Given the description of an element on the screen output the (x, y) to click on. 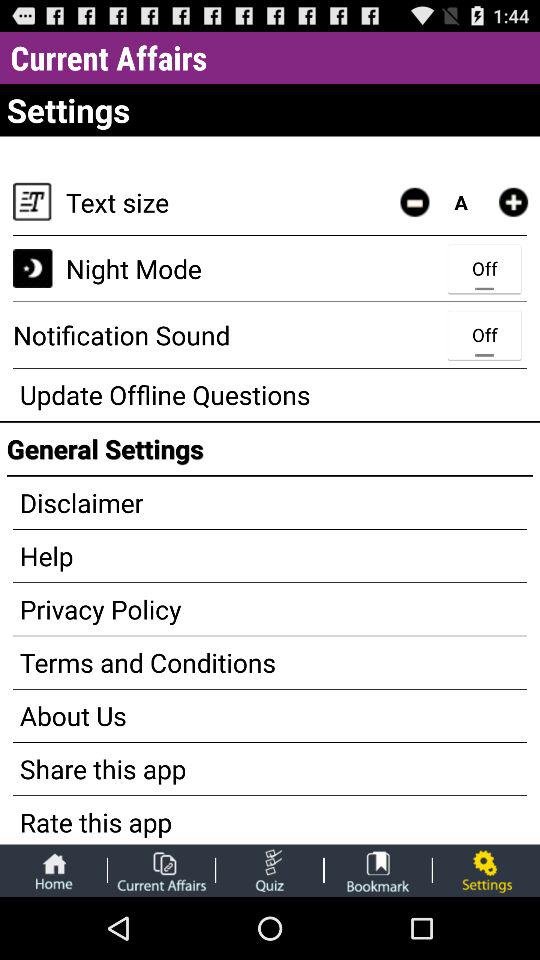
swipe until the privacy policy app (270, 609)
